Given the description of an element on the screen output the (x, y) to click on. 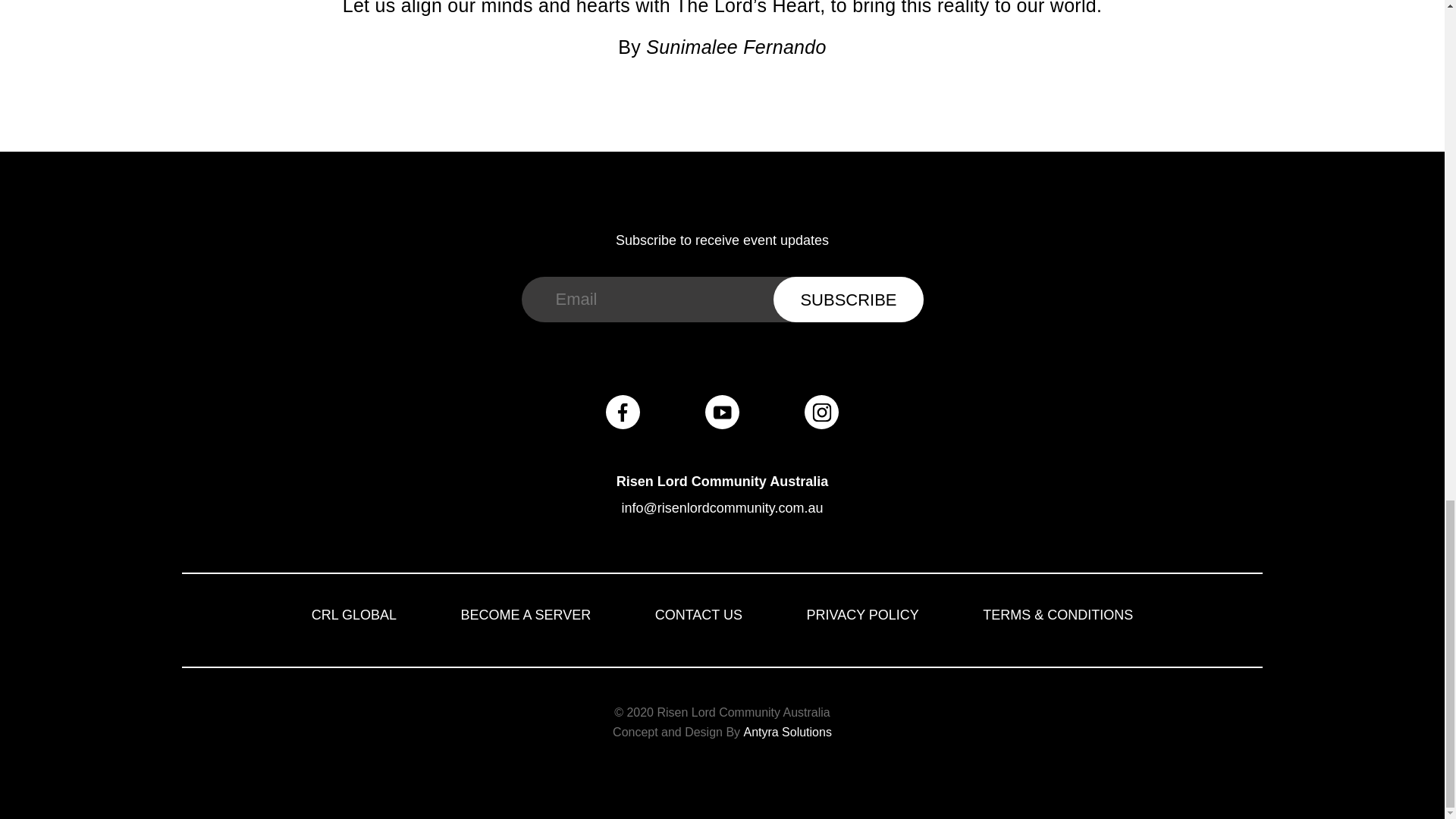
Subscribe (848, 299)
Antyra Solutions (786, 731)
Subscribe (848, 299)
PRIVACY POLICY (862, 614)
CRL GLOBAL (353, 614)
BECOME A SERVER (526, 614)
CONTACT US (698, 614)
